Given the description of an element on the screen output the (x, y) to click on. 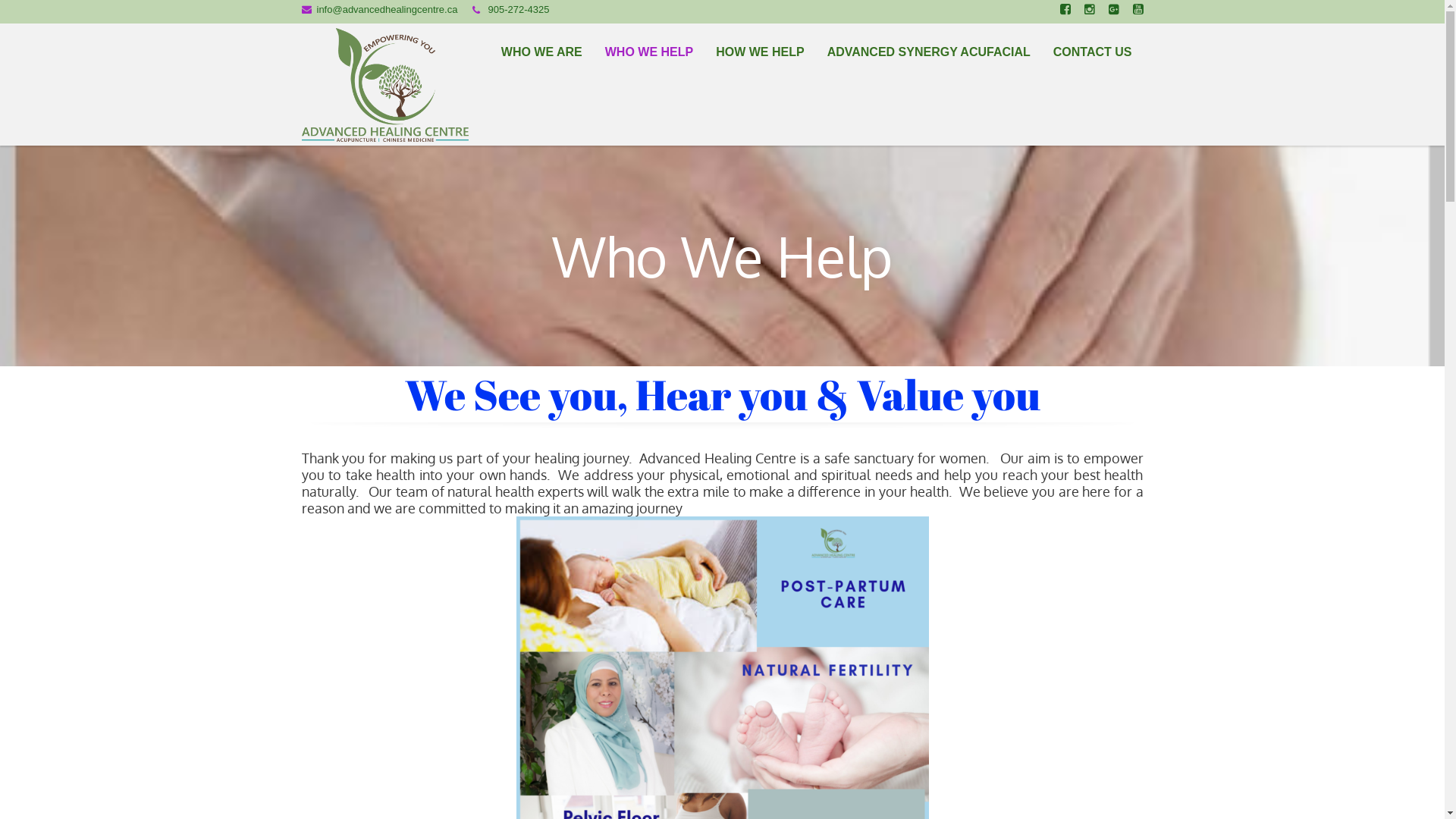
info@advancedhealingcentre.ca Element type: text (387, 9)
ADVANCED SYNERGY ACUFACIAL Element type: text (928, 51)
HOW WE HELP Element type: text (759, 51)
WHO WE HELP Element type: text (649, 51)
CONTACT US Element type: text (1092, 51)
WHO WE ARE Element type: text (541, 51)
